Given the description of an element on the screen output the (x, y) to click on. 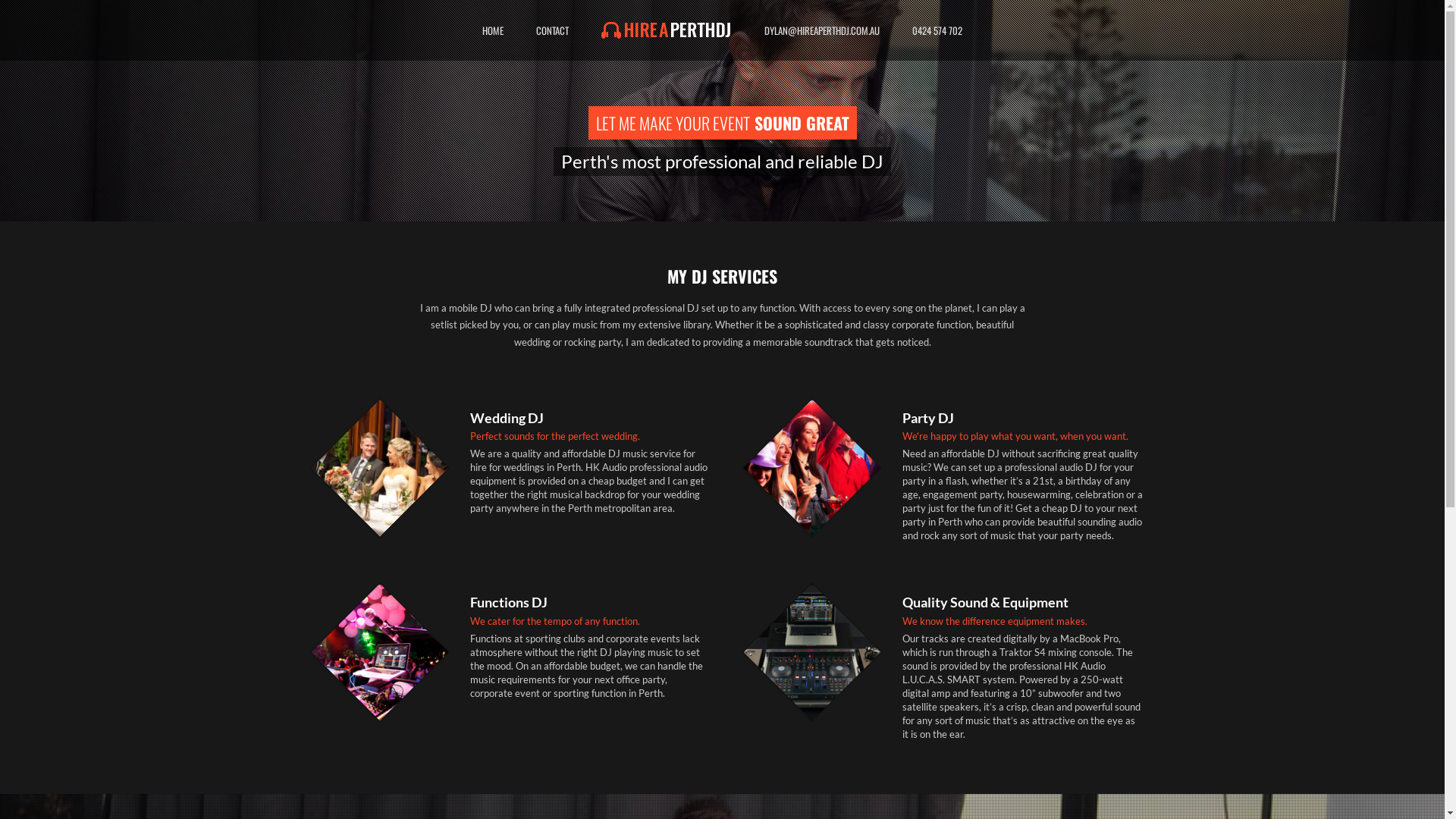
HOME Element type: text (492, 30)
DYLAN@HIREAPERTHDJ.COM.AU Element type: text (821, 30)
CONTACT Element type: text (551, 30)
0424 574 702 Element type: text (937, 30)
